Given the description of an element on the screen output the (x, y) to click on. 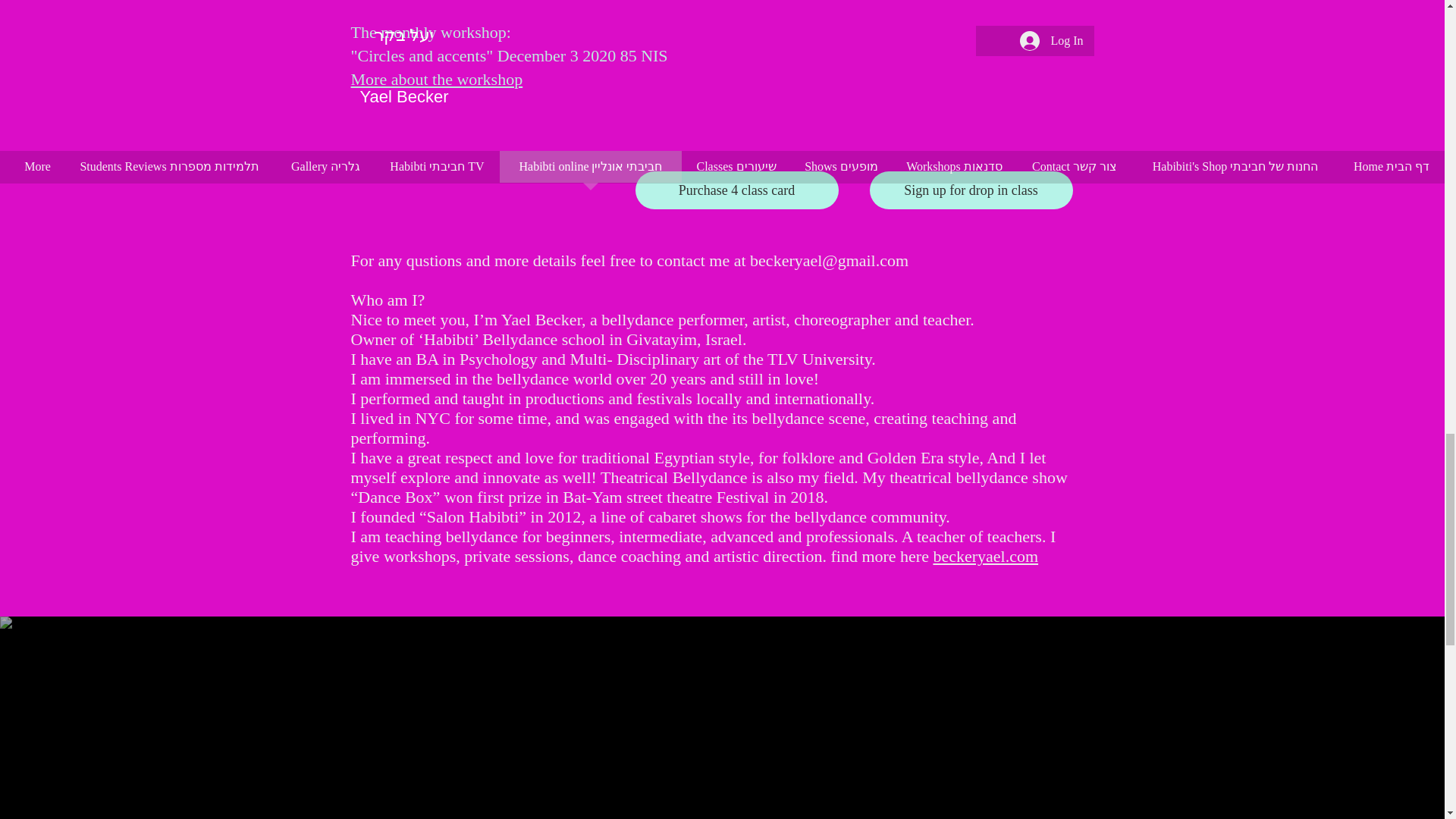
beckeryael.com (985, 556)
Purchase 4 class card (736, 190)
More about the workshop (436, 78)
Sign up for drop in class (970, 190)
